Given the description of an element on the screen output the (x, y) to click on. 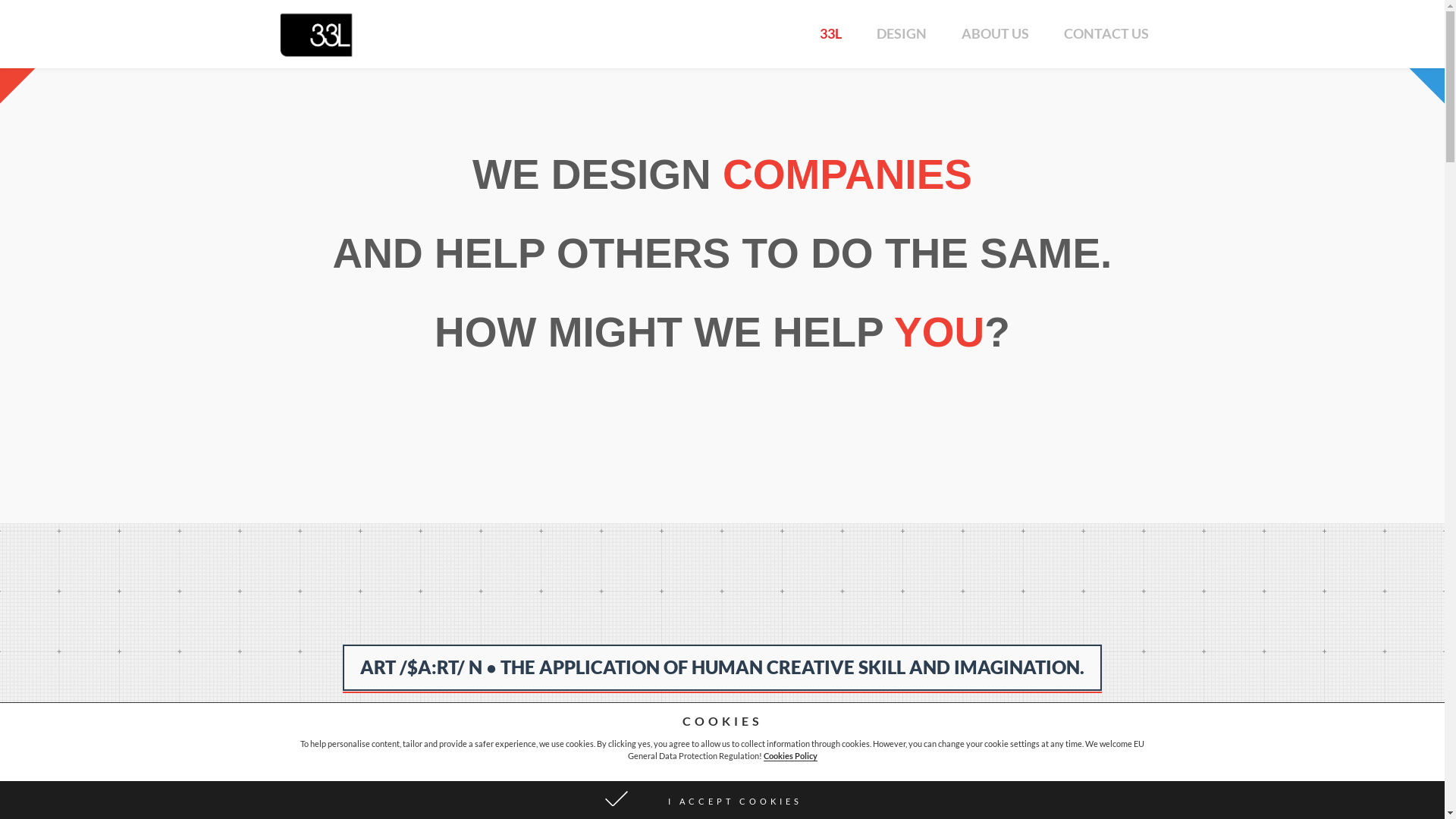
COMPANIES Element type: text (847, 173)
ABOUT US Element type: text (994, 34)
CONTACT US Element type: text (1106, 34)
33L Design Element type: hover (316, 34)
YOU Element type: text (939, 331)
DESIGN Element type: text (900, 34)
Cookies Policy Element type: text (789, 755)
33L Element type: text (830, 34)
